Given the description of an element on the screen output the (x, y) to click on. 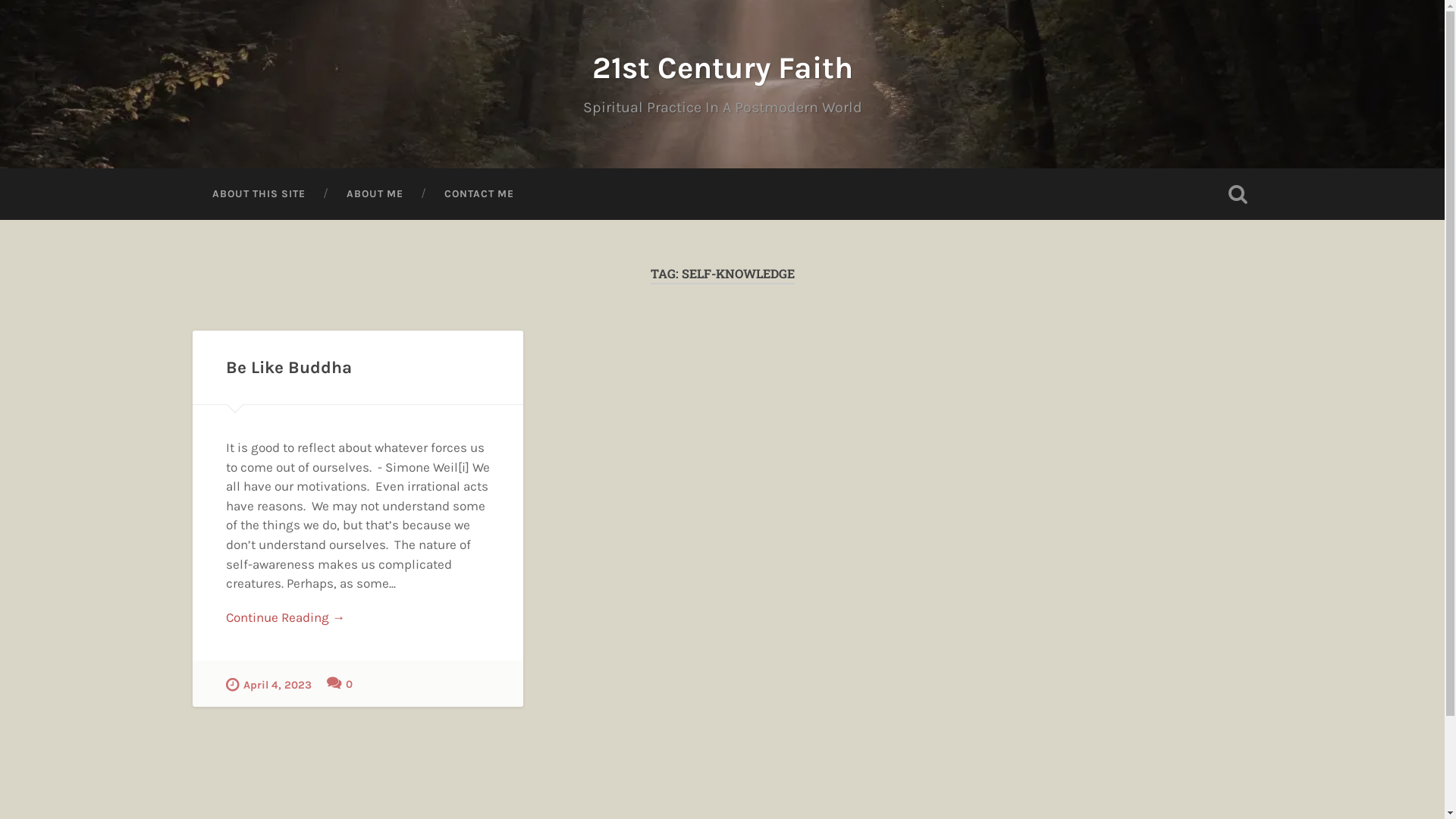
0 Element type: text (339, 682)
ABOUT ME Element type: text (374, 193)
ABOUT THIS SITE Element type: text (258, 193)
21st Century Faith Element type: text (721, 67)
April 4, 2023 Element type: text (268, 683)
CONTACT ME Element type: text (478, 193)
Be Like Buddha Element type: text (288, 367)
Open Search Element type: text (1237, 193)
